Given the description of an element on the screen output the (x, y) to click on. 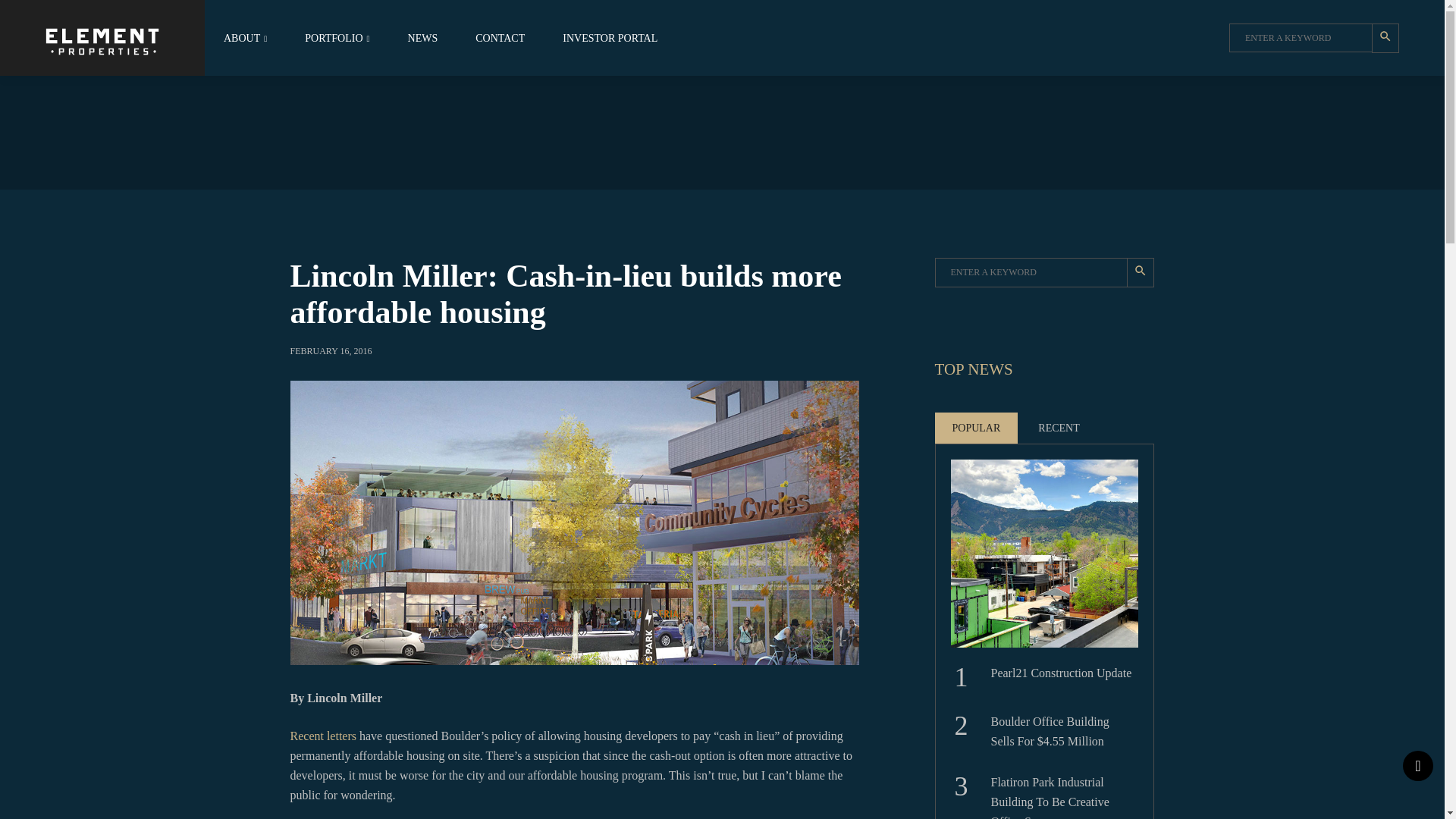
Recent (306, 735)
Search Button (1385, 37)
NEWS (422, 38)
Pearl21 Construction Update (1062, 677)
FEBRUARY 16, 2016 (330, 350)
Scroll To Top (1417, 766)
INVESTOR PORTAL (610, 38)
PORTFOLIO (336, 38)
letters (341, 735)
CONTACT (500, 38)
ABOUT (245, 38)
Search Button (1140, 272)
